Given the description of an element on the screen output the (x, y) to click on. 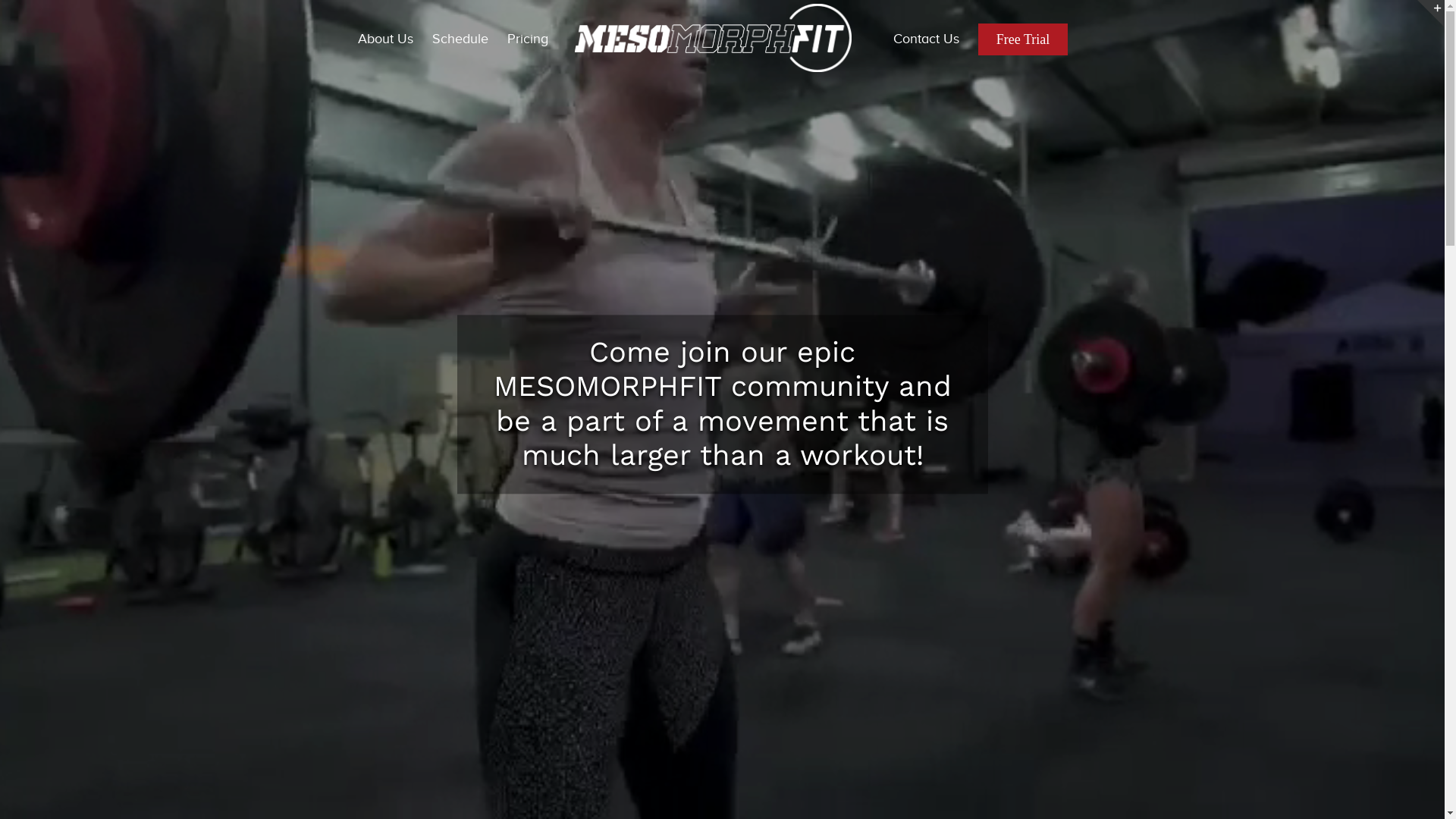
Pricing Element type: text (527, 37)
About Us Element type: text (385, 37)
Toggle Sliding Bar Area Element type: text (1430, 13)
Contact Us Element type: text (926, 37)
Free Trial Element type: text (1023, 37)
Schedule Element type: text (460, 37)
